Given the description of an element on the screen output the (x, y) to click on. 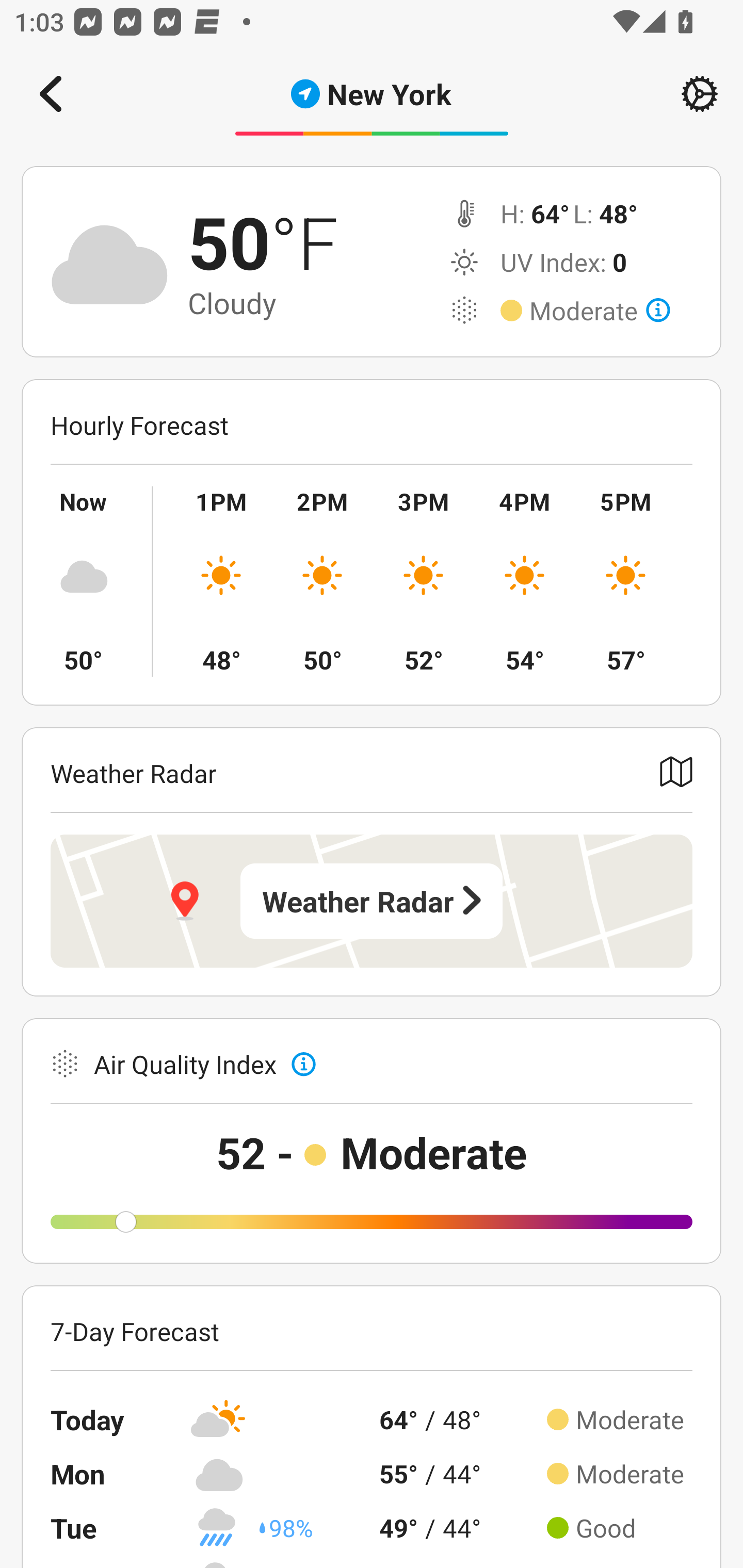
Navigate up (50, 93)
Setting (699, 93)
Moderate (599, 310)
Weather Radar (371, 900)
